Given the description of an element on the screen output the (x, y) to click on. 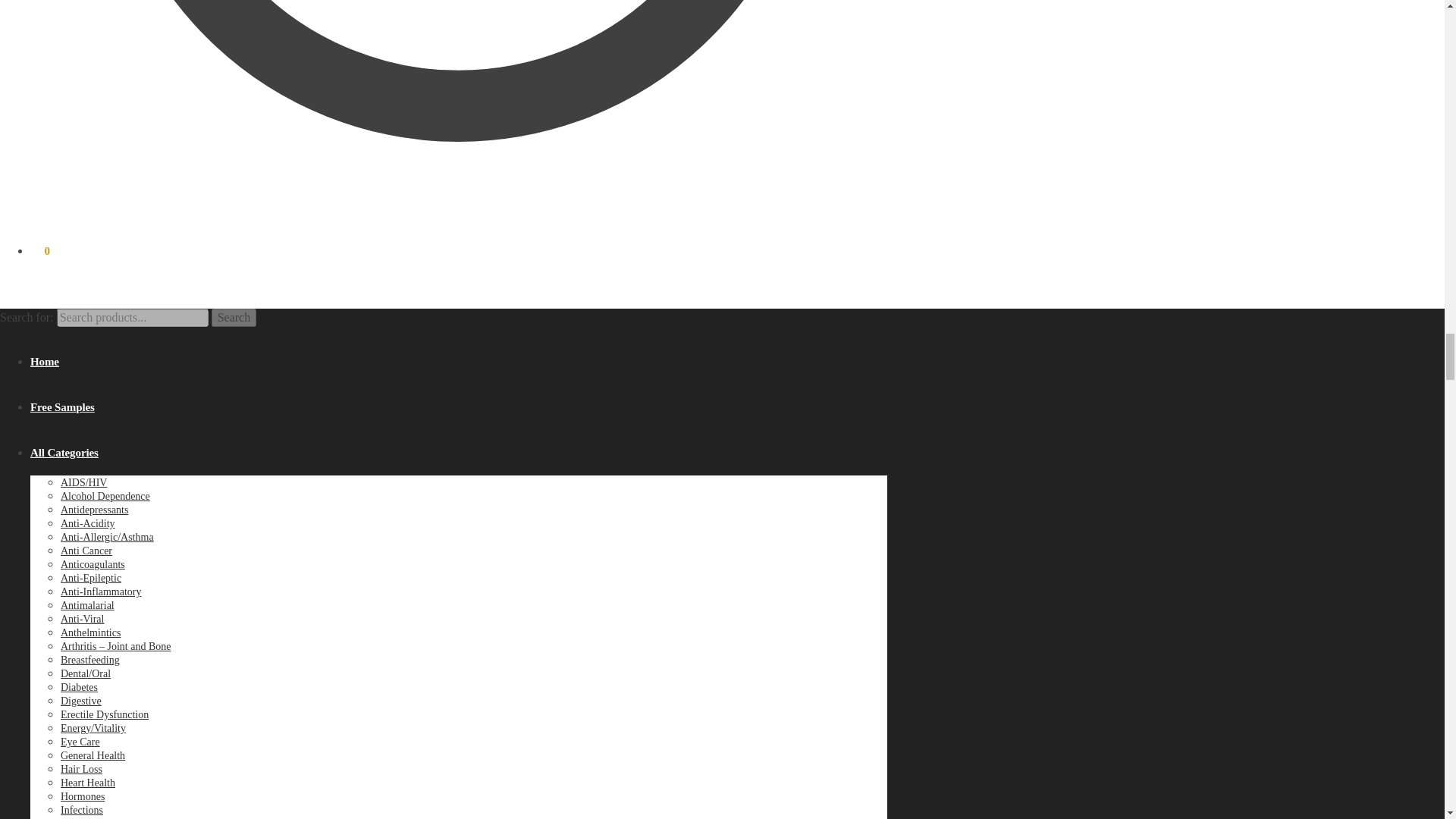
View your shopping cart (39, 250)
Anticoagulants (93, 564)
Heart Health (88, 782)
Hair Loss (81, 768)
Hormones (82, 796)
Erectile Dysfunction (104, 714)
Anti Cancer (86, 550)
Anti-Viral (82, 618)
Anti-Epileptic (90, 577)
